Given the description of an element on the screen output the (x, y) to click on. 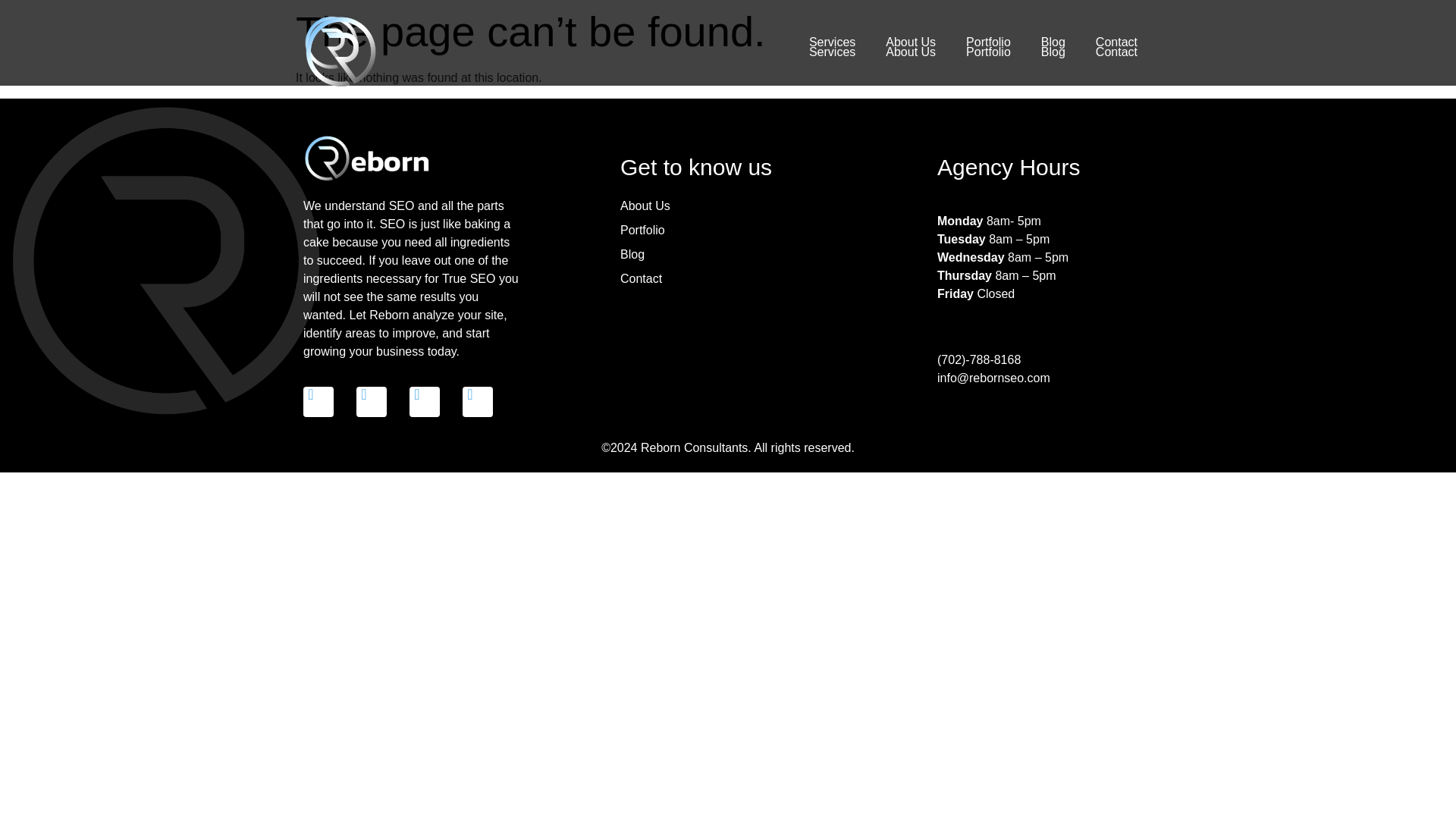
Services (831, 42)
Blog (1053, 42)
Portfolio (988, 52)
About Us (910, 42)
About Us (910, 52)
Portfolio (988, 42)
Services (831, 52)
Blog (1053, 52)
Contact (1116, 52)
Contact (1116, 42)
